Given the description of an element on the screen output the (x, y) to click on. 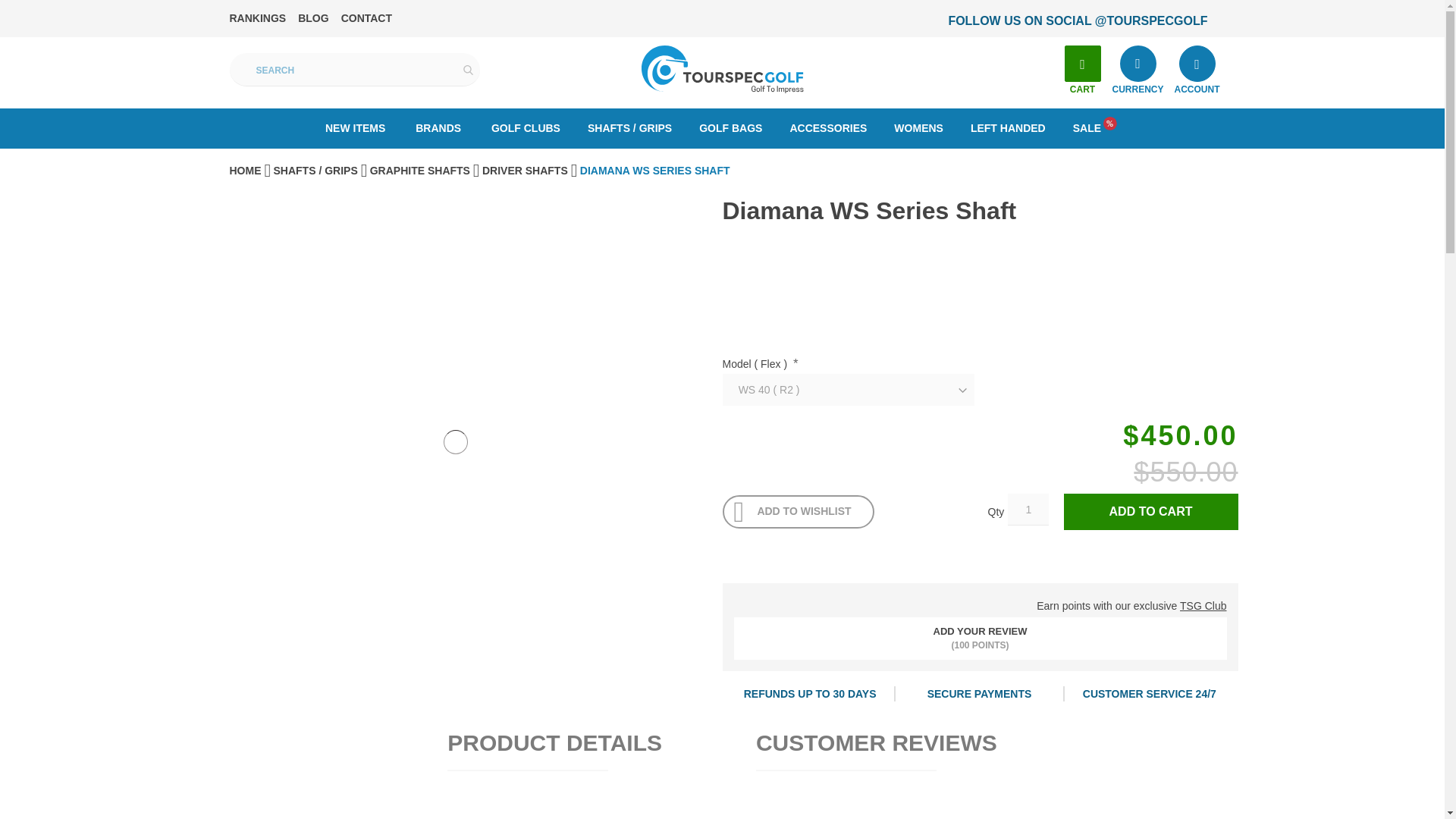
1 (1027, 509)
BLOG (313, 18)
WE SHIP WORLDWIDE! (1037, 21)
My Cart (1082, 63)
CONTACT (365, 18)
Tourspecgolf - Golf to Impress (722, 69)
NEW ITEMS (354, 128)
RANKINGS (256, 18)
BRANDS (437, 128)
